Given the description of an element on the screen output the (x, y) to click on. 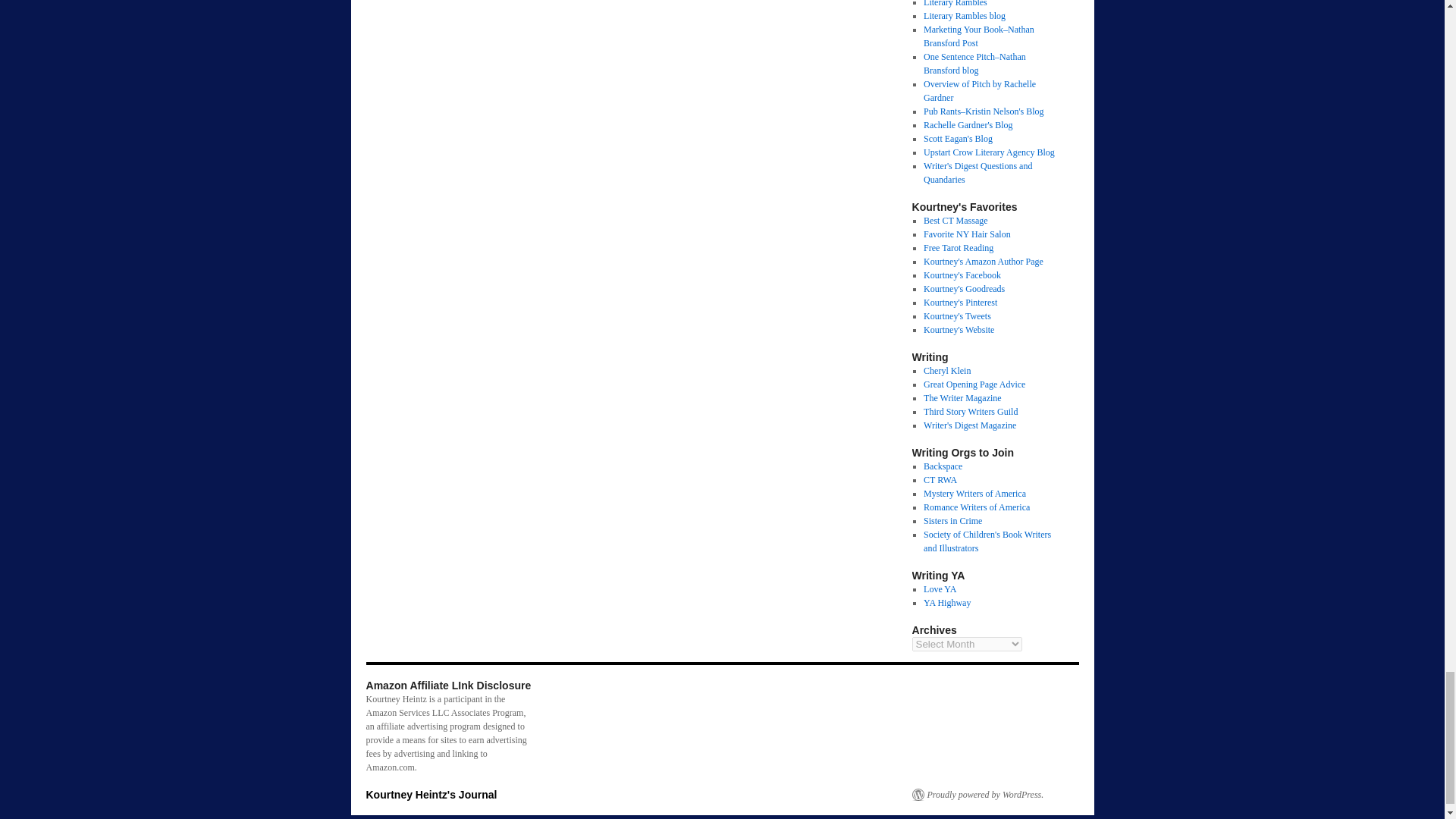
Semantic Personal Publishing Platform (977, 794)
Kourtney Heintz's Journal (430, 794)
